Given the description of an element on the screen output the (x, y) to click on. 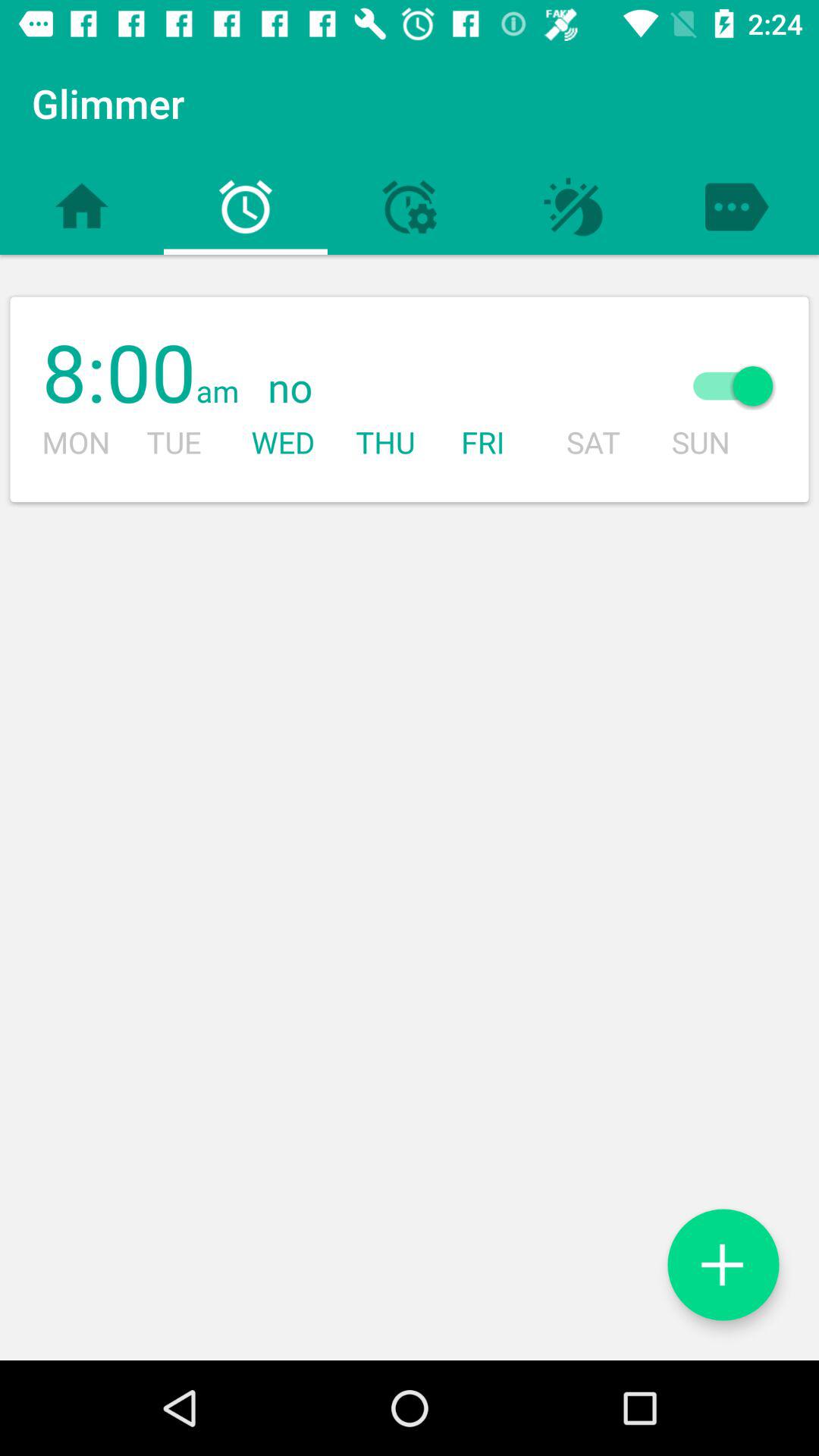
add alarm (723, 1264)
